Given the description of an element on the screen output the (x, y) to click on. 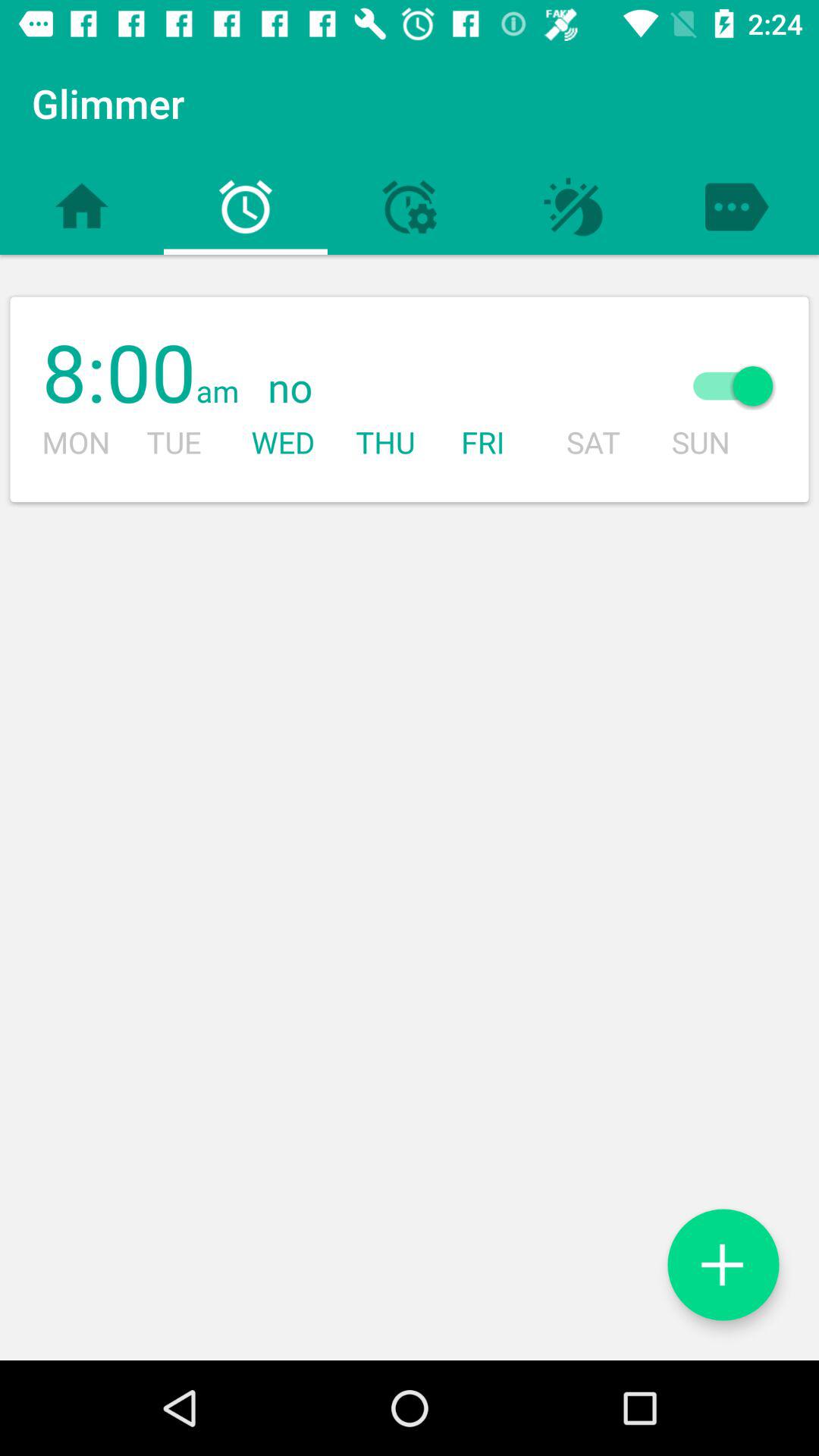
add alarm (723, 1264)
